Given the description of an element on the screen output the (x, y) to click on. 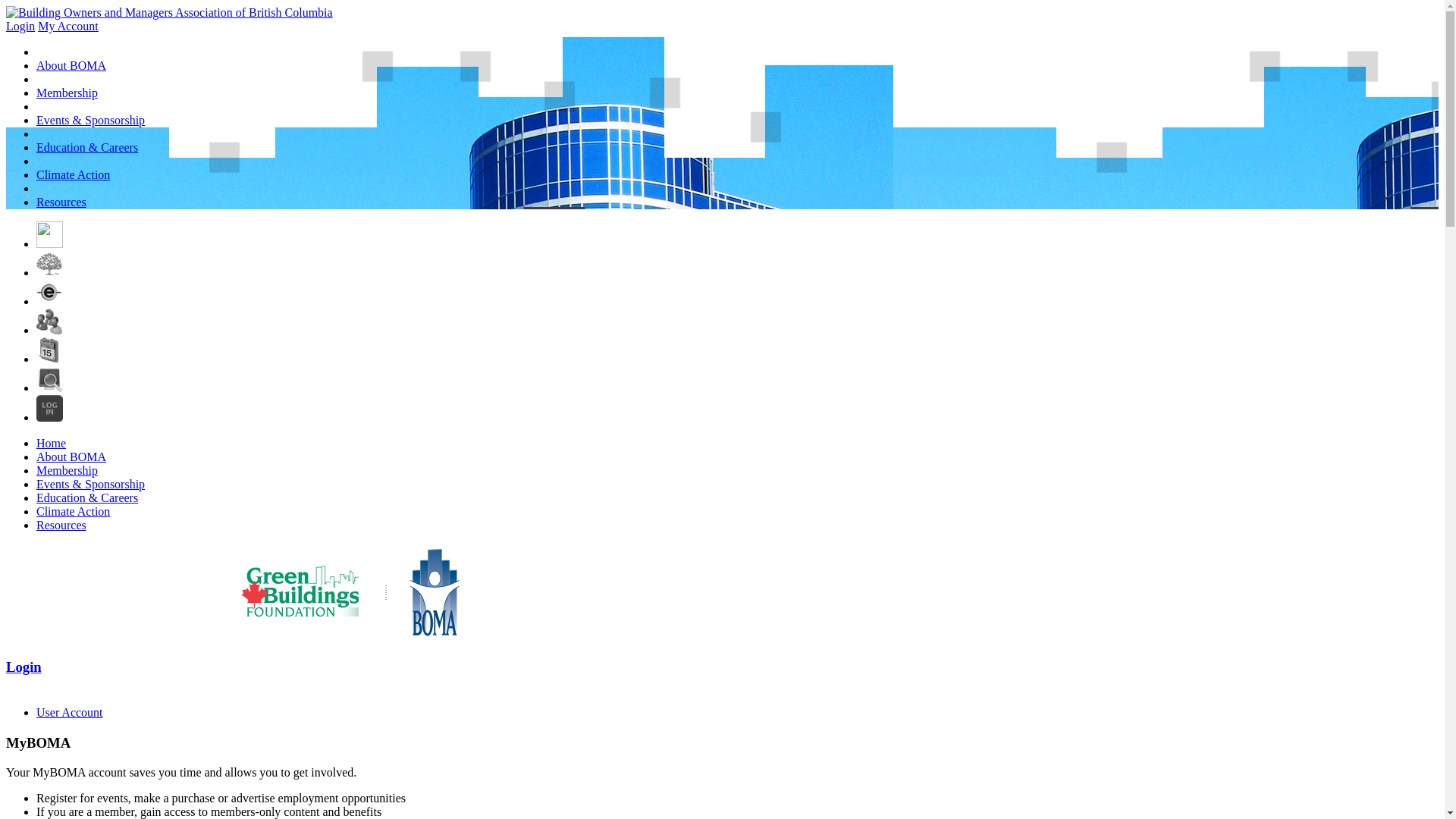
Events & Sponsorship Element type: text (90, 119)
Resources Element type: text (61, 201)
Login Element type: text (20, 25)
About BOMA Element type: text (71, 456)
User Account Element type: text (69, 712)
Login Element type: text (23, 666)
Membership Element type: text (66, 92)
My Account Element type: text (67, 25)
About BOMA Element type: text (71, 65)
Home Element type: text (50, 442)
Education & Careers Element type: text (87, 147)
Education & Careers Element type: text (87, 497)
Climate Action Element type: text (72, 511)
Events & Sponsorship Element type: text (90, 483)
Membership Element type: text (66, 470)
Climate Action Element type: text (72, 174)
Resources Element type: text (61, 524)
